Given the description of an element on the screen output the (x, y) to click on. 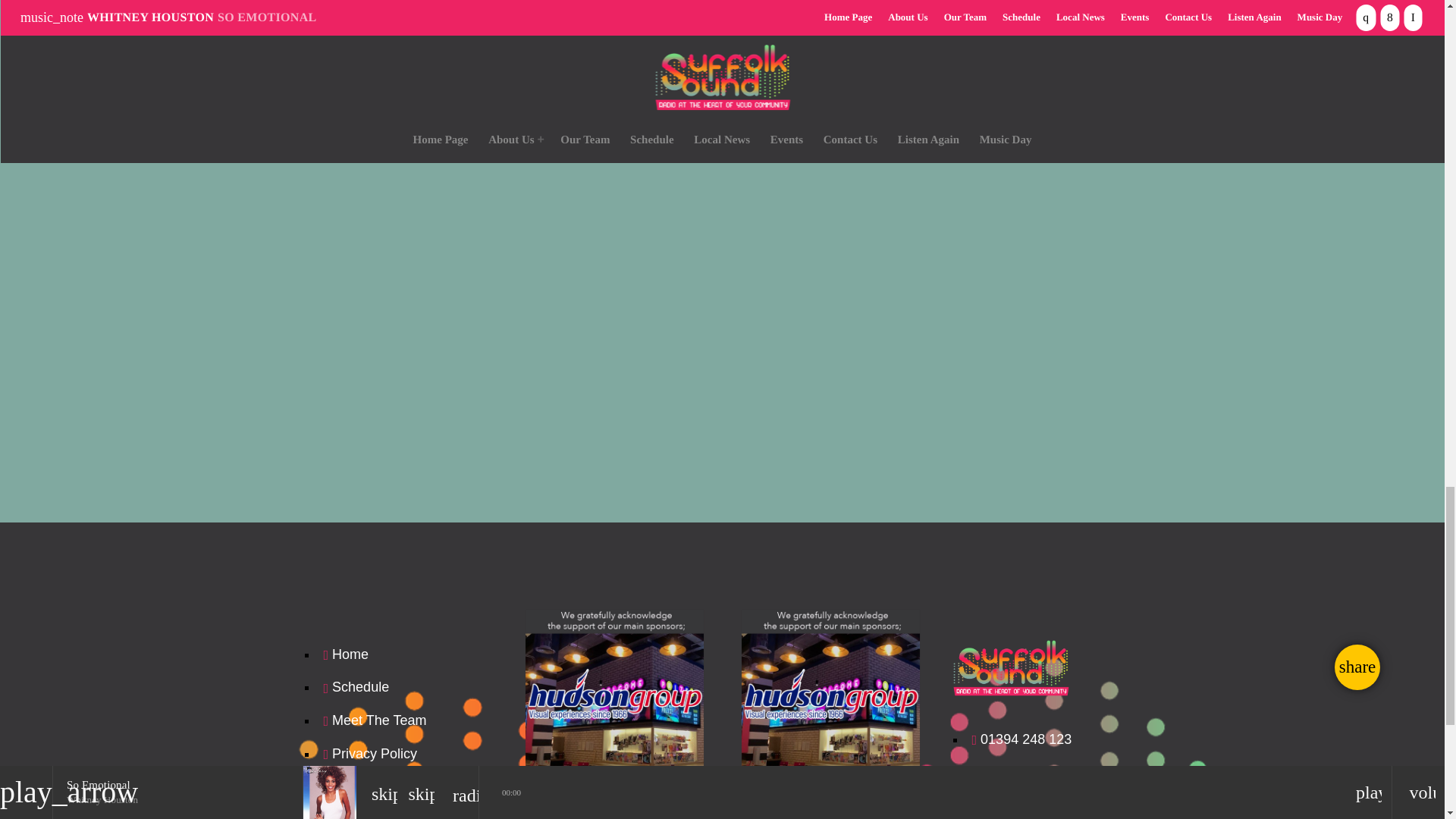
Hudsons Signs (613, 698)
Hudsons Signs (830, 698)
